Given the description of an element on the screen output the (x, y) to click on. 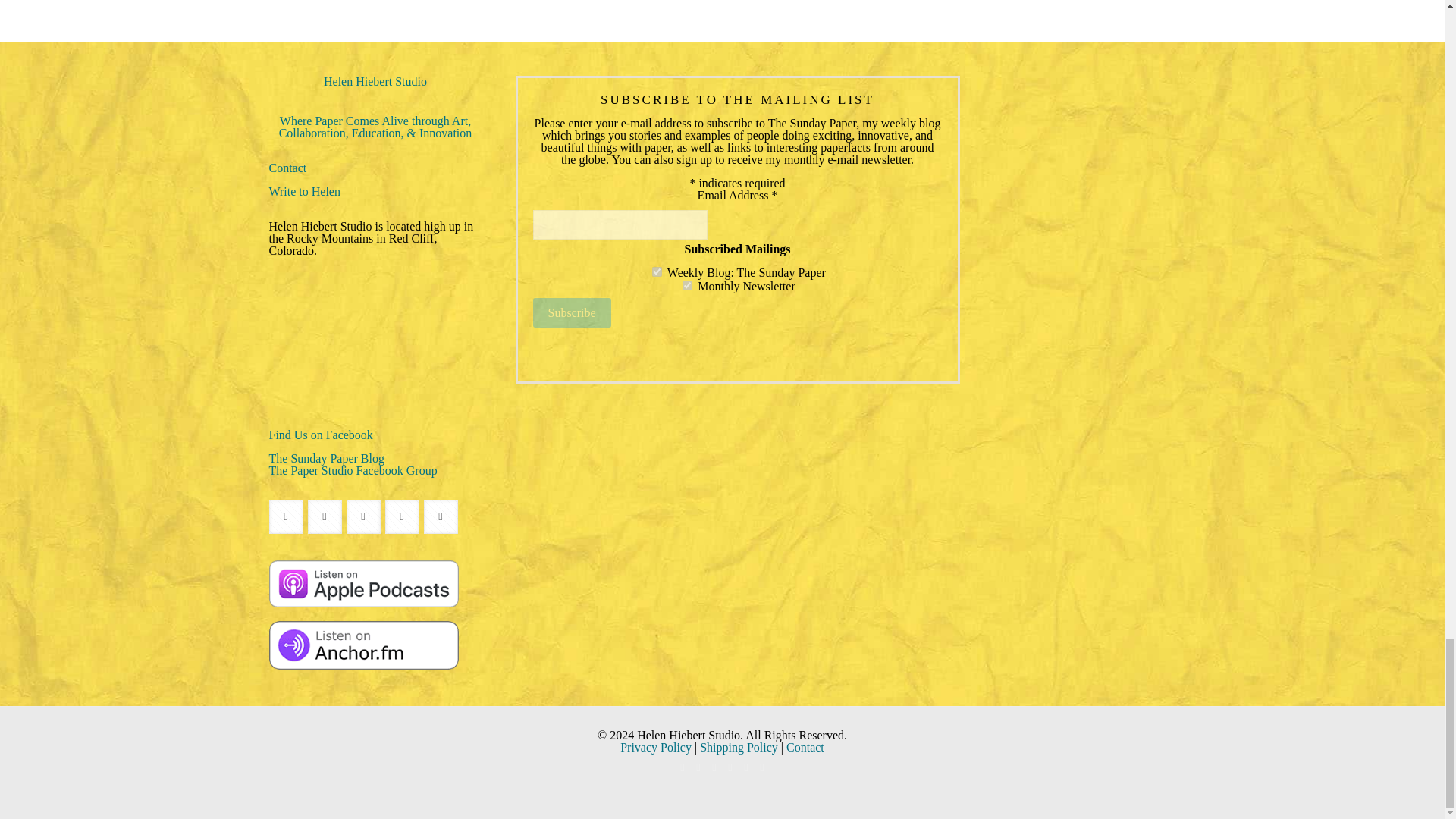
1 (657, 271)
YouTube (713, 767)
64 (687, 285)
Instagram (745, 767)
Subscribe (571, 312)
Facebook (682, 767)
Pinterest (730, 767)
